Given the description of an element on the screen output the (x, y) to click on. 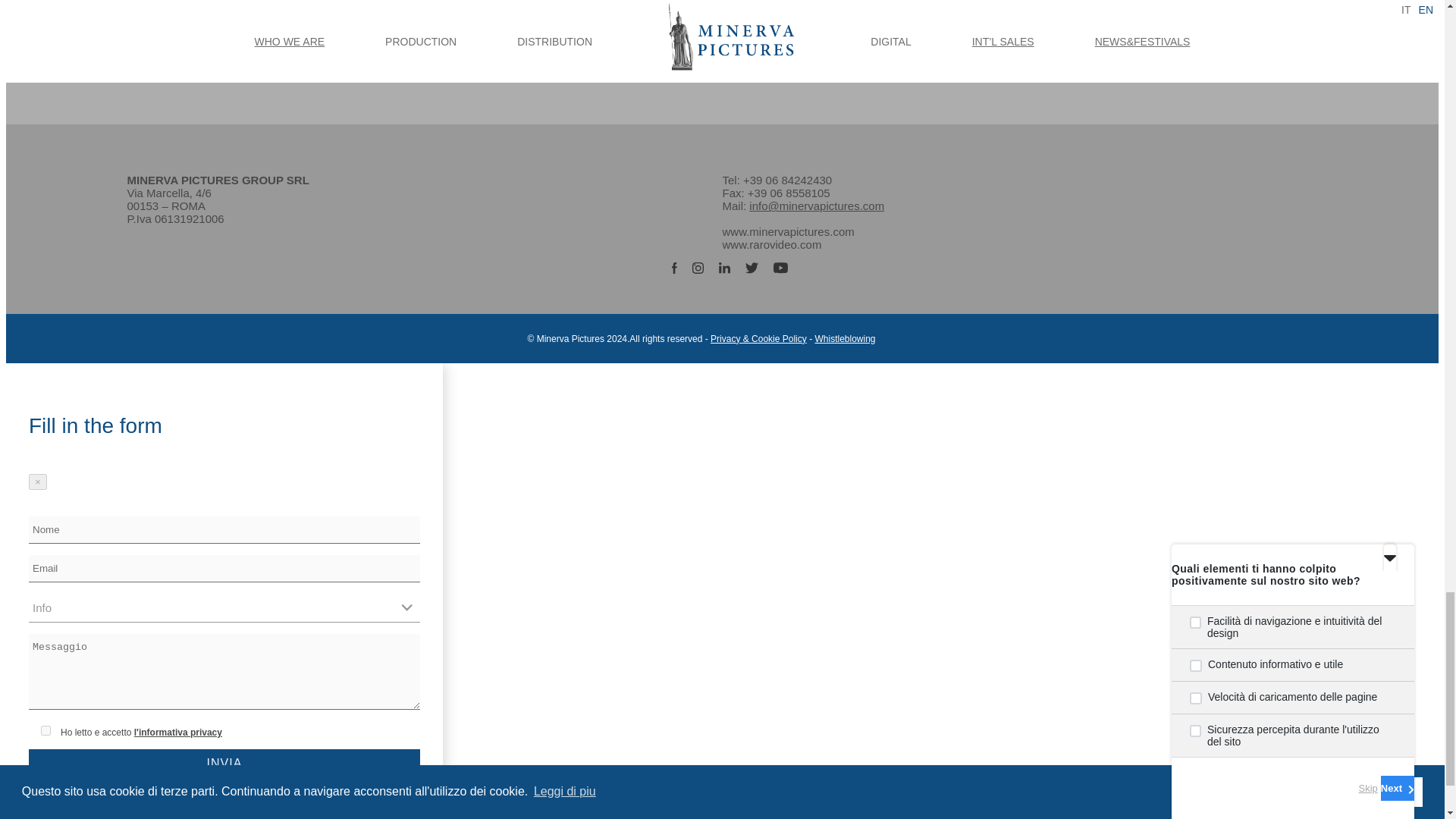
1 (45, 730)
Invia (224, 763)
